Given the description of an element on the screen output the (x, y) to click on. 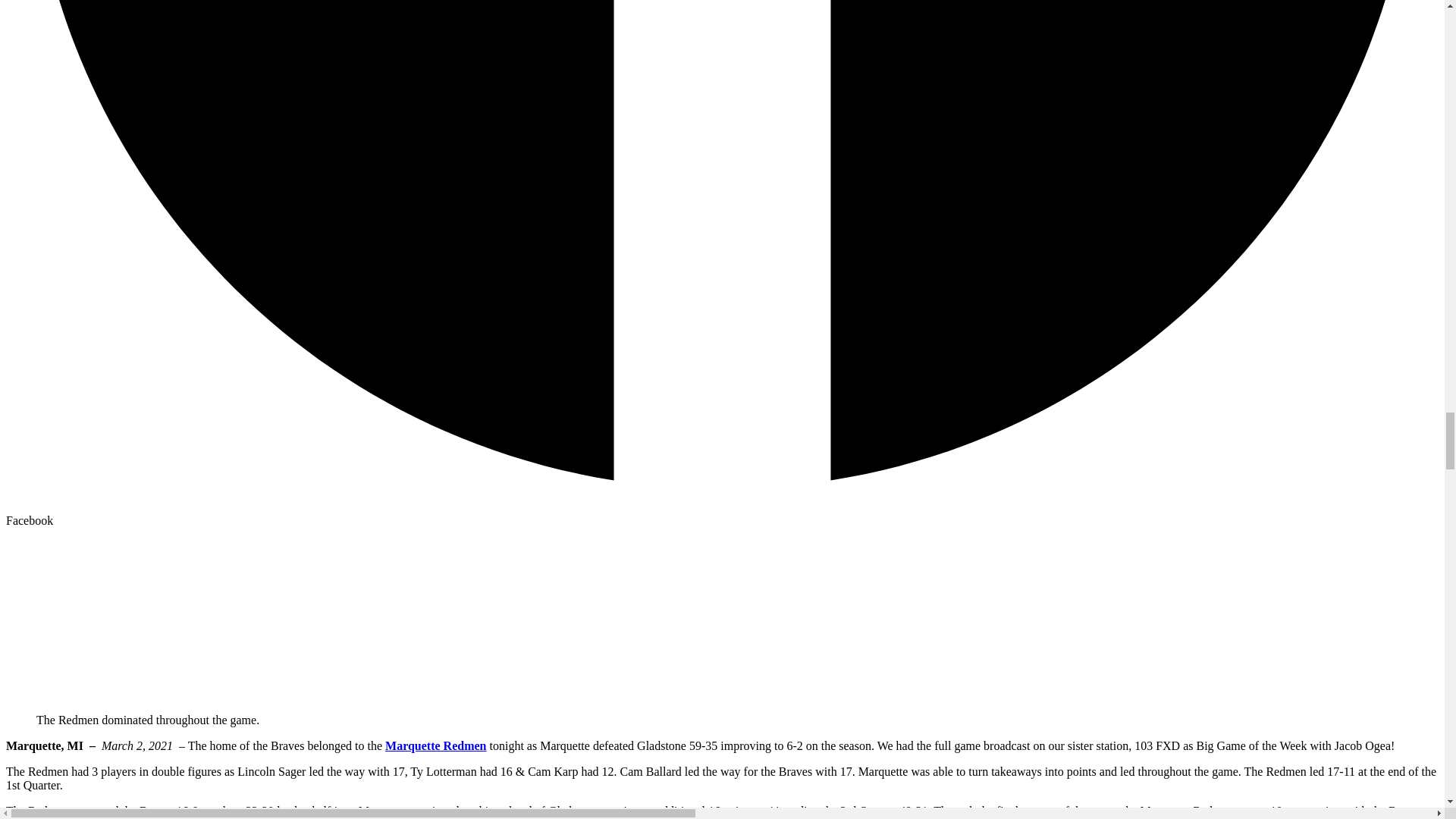
Marquette Redmen (435, 745)
